Given the description of an element on the screen output the (x, y) to click on. 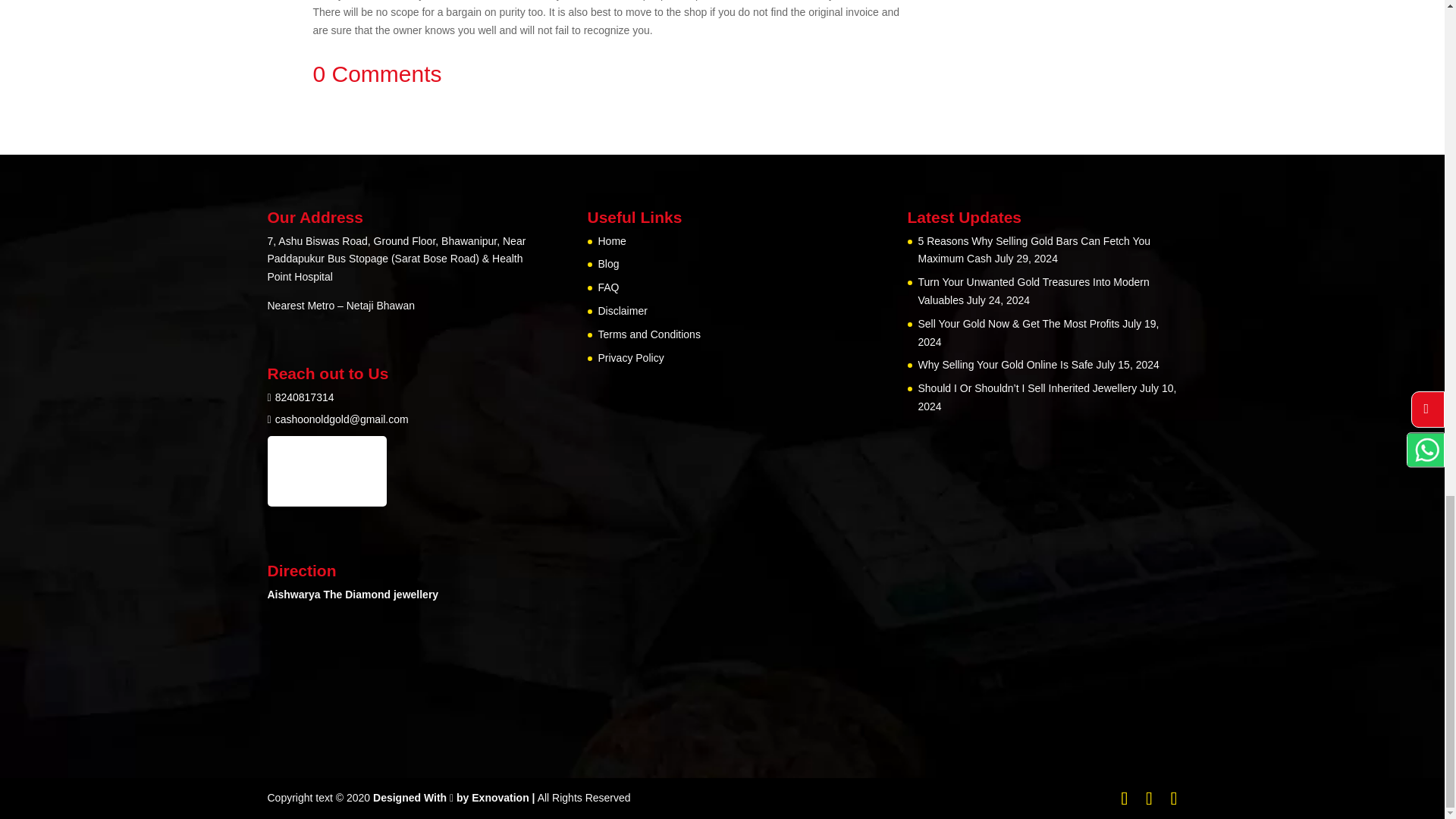
5 Reasons Why Selling Gold Bars Can Fetch You Maximum Cash (1033, 250)
8240817314 (304, 397)
FAQ (607, 287)
Terms and Conditions (648, 334)
Blog (607, 263)
Privacy Policy (629, 357)
Why Selling Your Gold Online Is Safe (1005, 364)
Disclaimer (621, 310)
Turn Your Unwanted Gold Treasures Into Modern Valuables (1032, 291)
Home (611, 241)
